Given the description of an element on the screen output the (x, y) to click on. 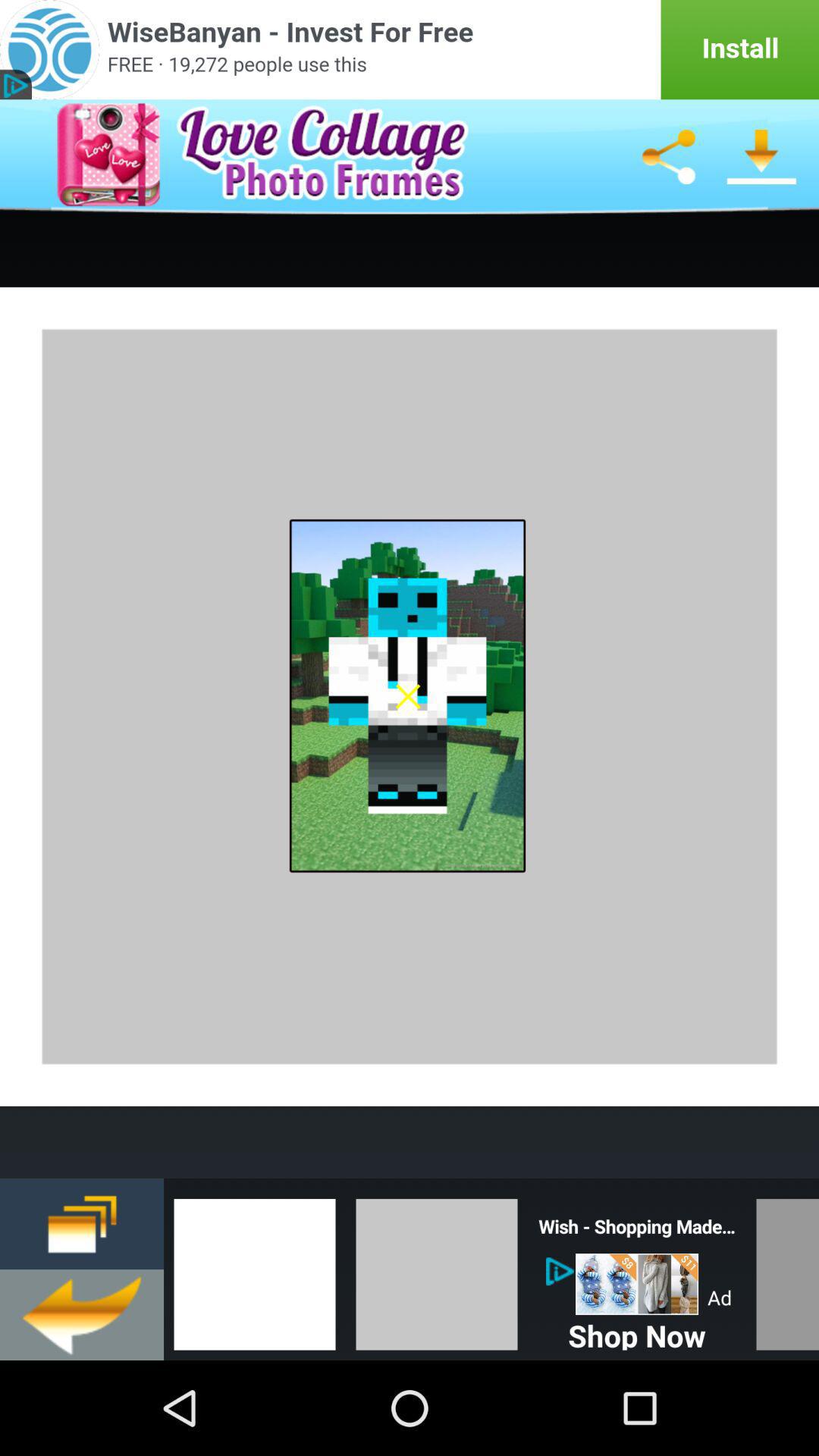
click to view advertisement (409, 49)
